Given the description of an element on the screen output the (x, y) to click on. 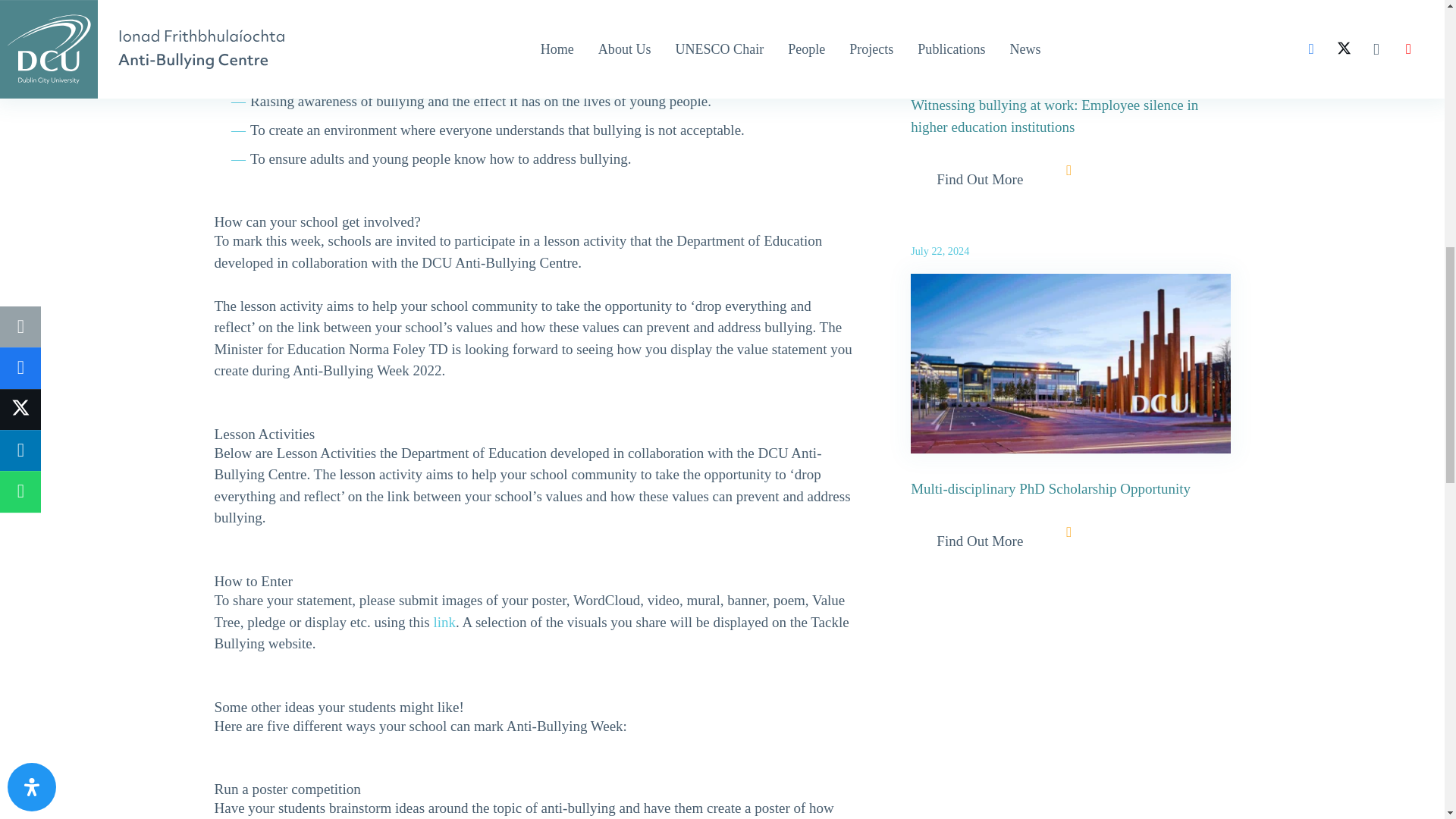
Find Out More (979, 179)
Multi-disciplinary PhD Scholarship Opportunity (1051, 488)
Find Out More (979, 541)
link (445, 621)
